Given the description of an element on the screen output the (x, y) to click on. 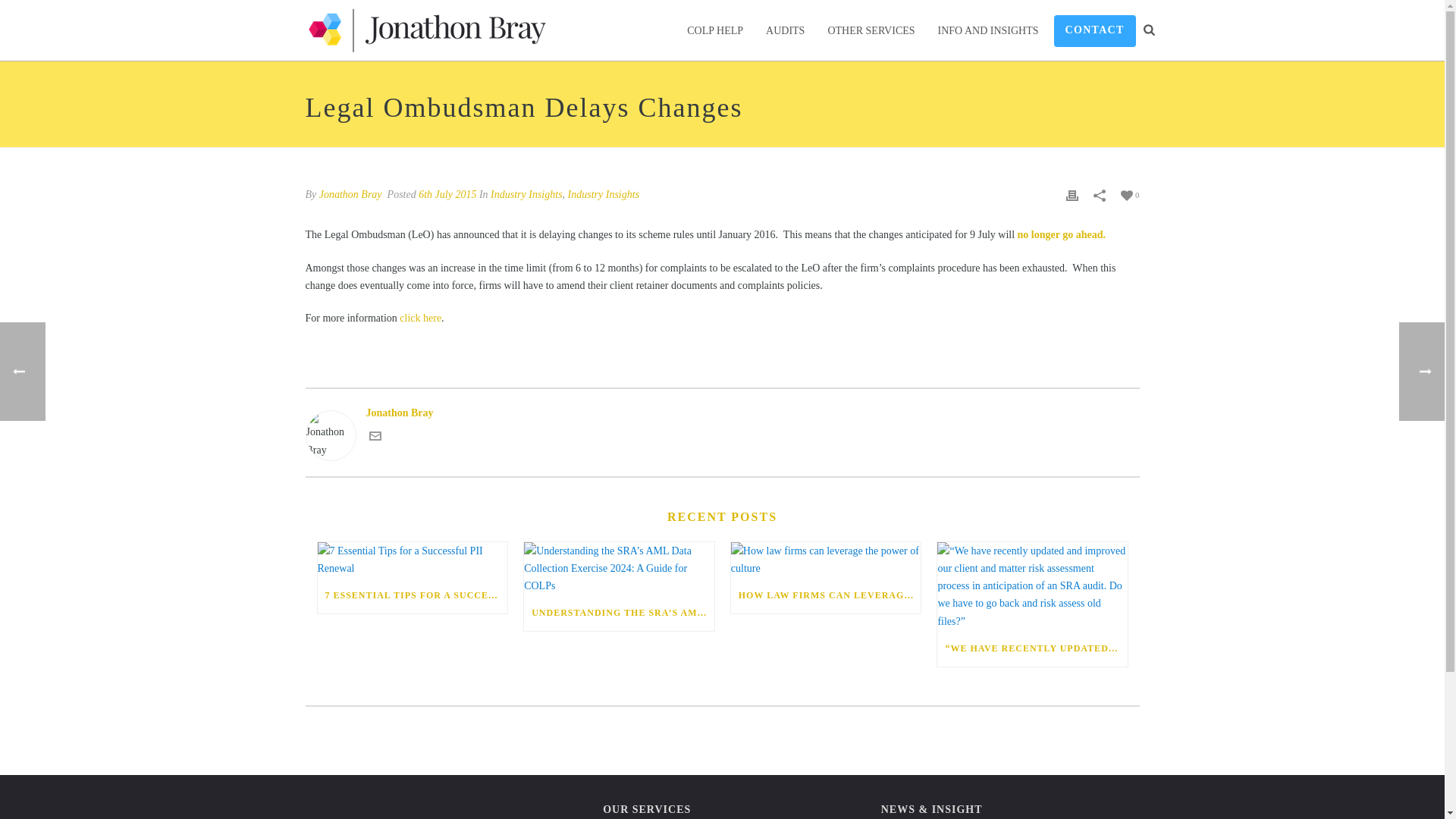
INFO AND INSIGHTS (987, 31)
CONTACT (1094, 30)
INFO AND INSIGHTS (987, 31)
AUDITS (784, 31)
OTHER SERVICES (870, 31)
How law firms can leverage the power of culture (825, 559)
COLP HELP (714, 31)
7 Essential Tips for a Successful PII Renewal (411, 559)
OTHER SERVICES (870, 31)
SRA Compliance Consultants (425, 29)
